Given the description of an element on the screen output the (x, y) to click on. 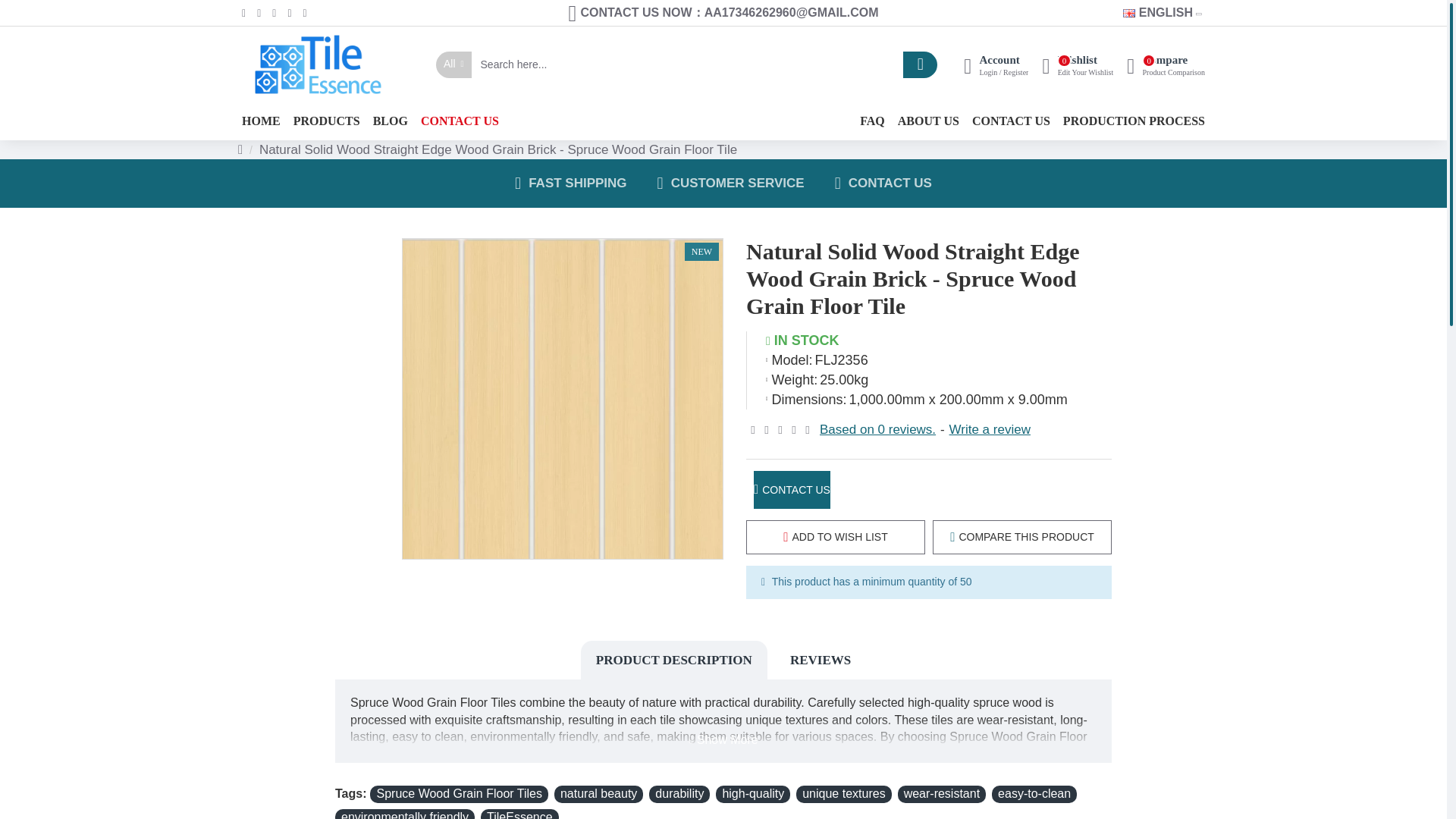
HOME (260, 121)
English (1165, 64)
ENGLISH (1128, 13)
TileEssence (1157, 13)
PRODUCTS (317, 64)
